Given the description of an element on the screen output the (x, y) to click on. 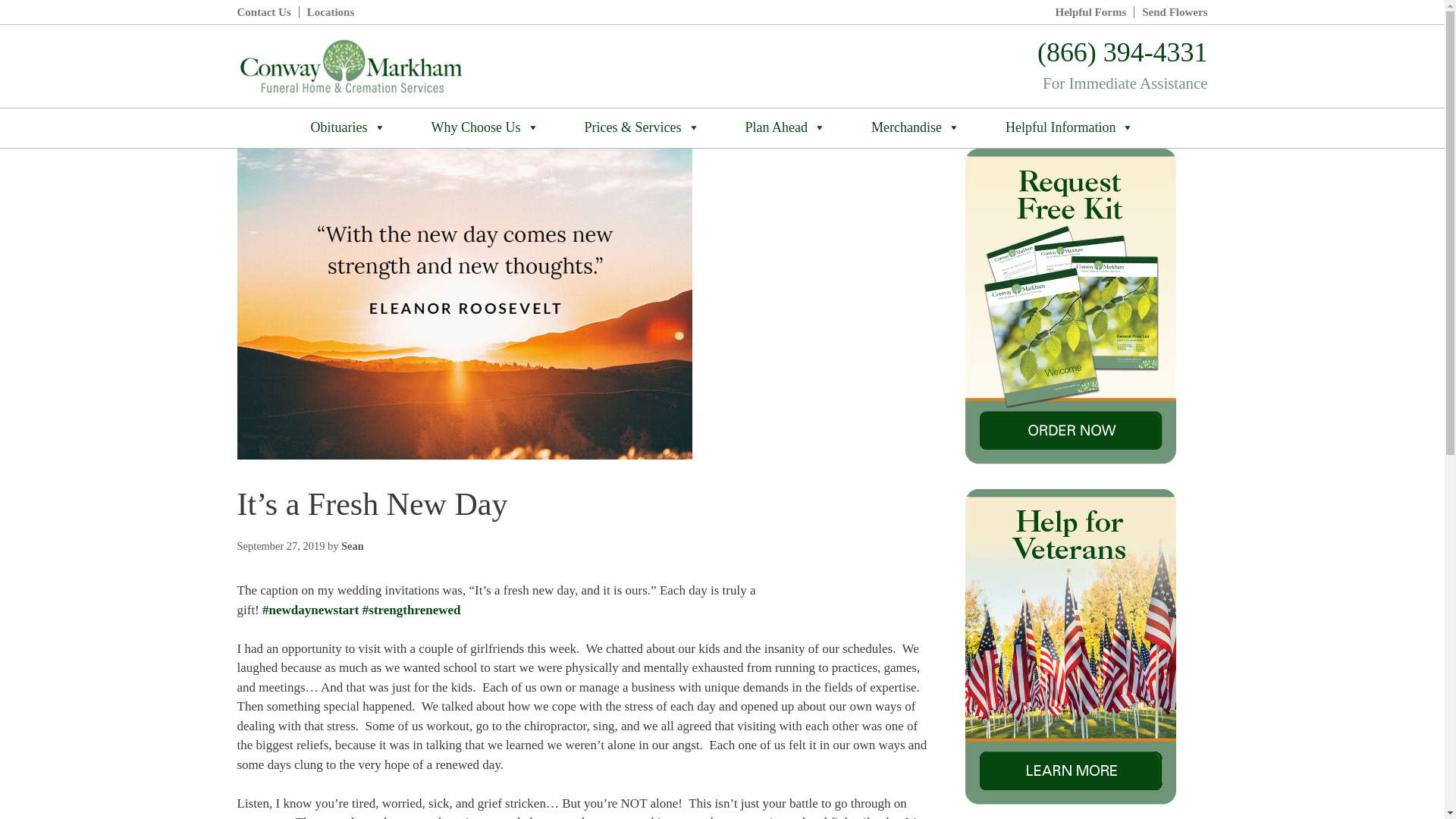
View all posts by Sean (352, 545)
Helpful Information (1069, 127)
Plan Ahead (785, 127)
Helpful Forms (1090, 11)
Obituaries (348, 127)
Contact Us (262, 11)
Locations (331, 11)
Why Choose Us (485, 127)
Merchandise (915, 127)
Send Flowers (1174, 11)
